Given the description of an element on the screen output the (x, y) to click on. 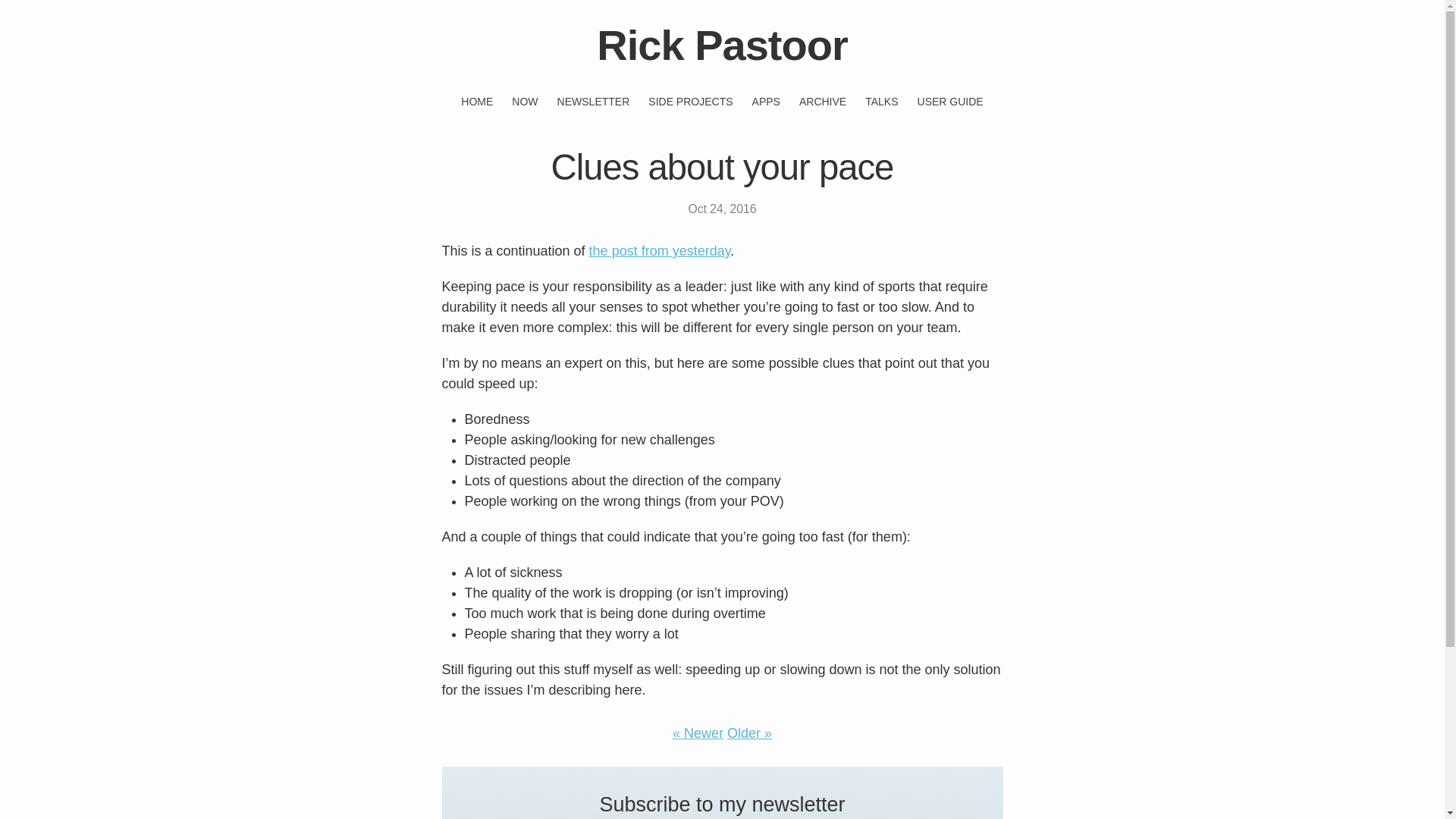
SIDE PROJECTS (689, 101)
NEWSLETTER (593, 101)
HOME (477, 101)
Rick Pastoor (721, 44)
ARCHIVE (822, 101)
USER GUIDE (950, 101)
the post from yesterday (659, 250)
NOW (524, 101)
TALKS (881, 101)
APPS (766, 101)
